Given the description of an element on the screen output the (x, y) to click on. 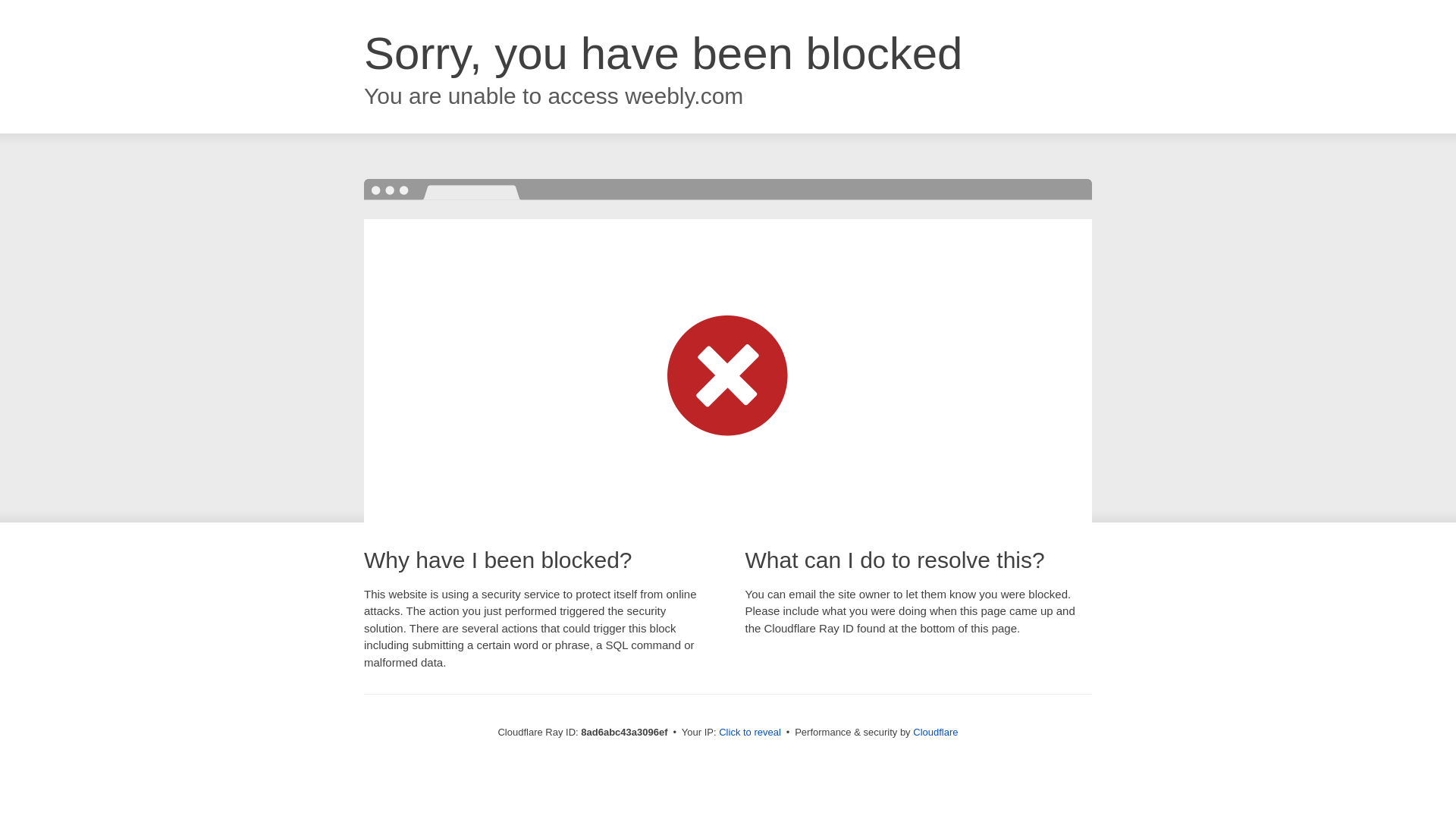
Click to reveal (749, 732)
Cloudflare (935, 731)
